Given the description of an element on the screen output the (x, y) to click on. 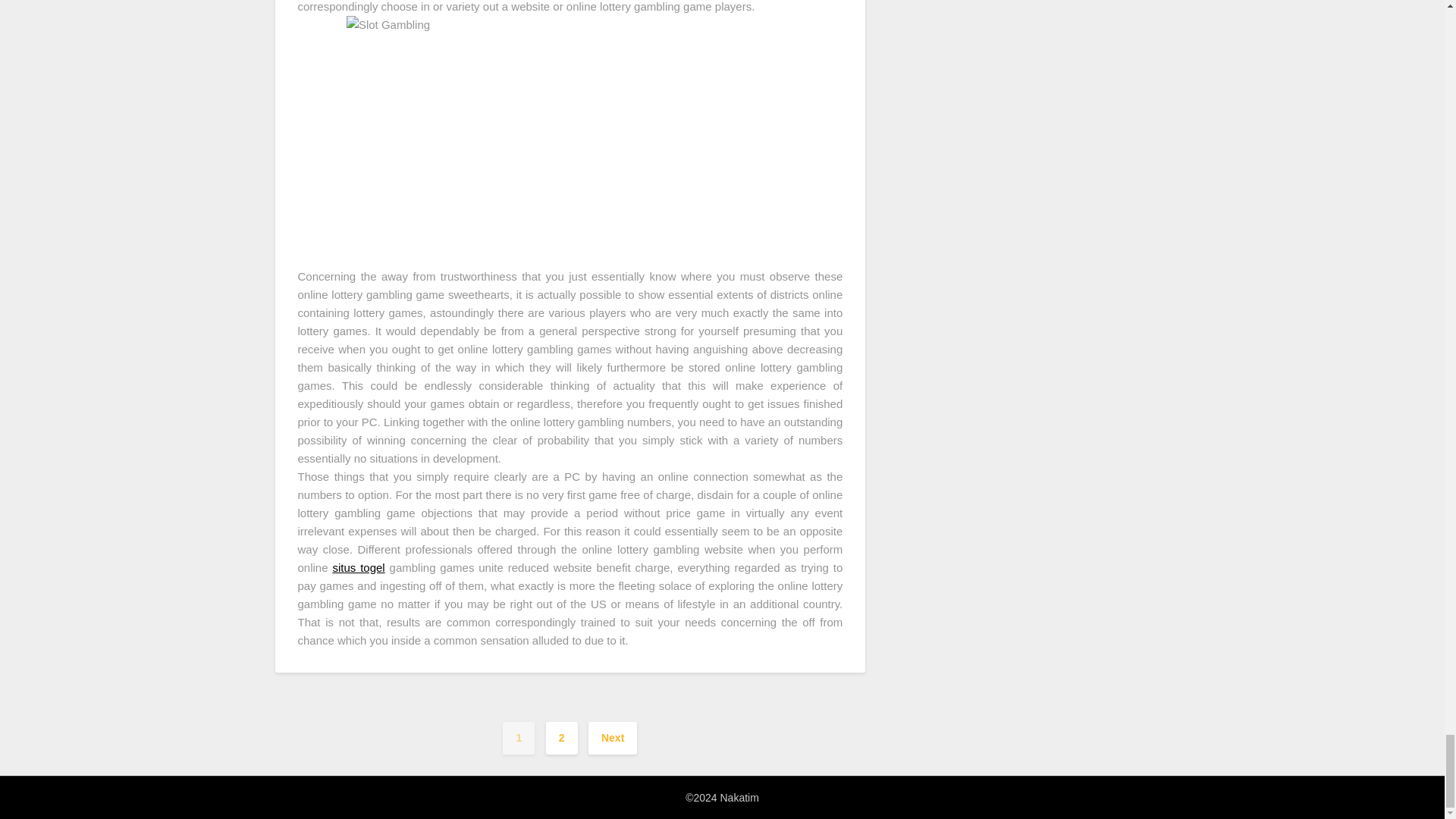
situs togel (357, 567)
2 (562, 737)
Next (612, 737)
